Given the description of an element on the screen output the (x, y) to click on. 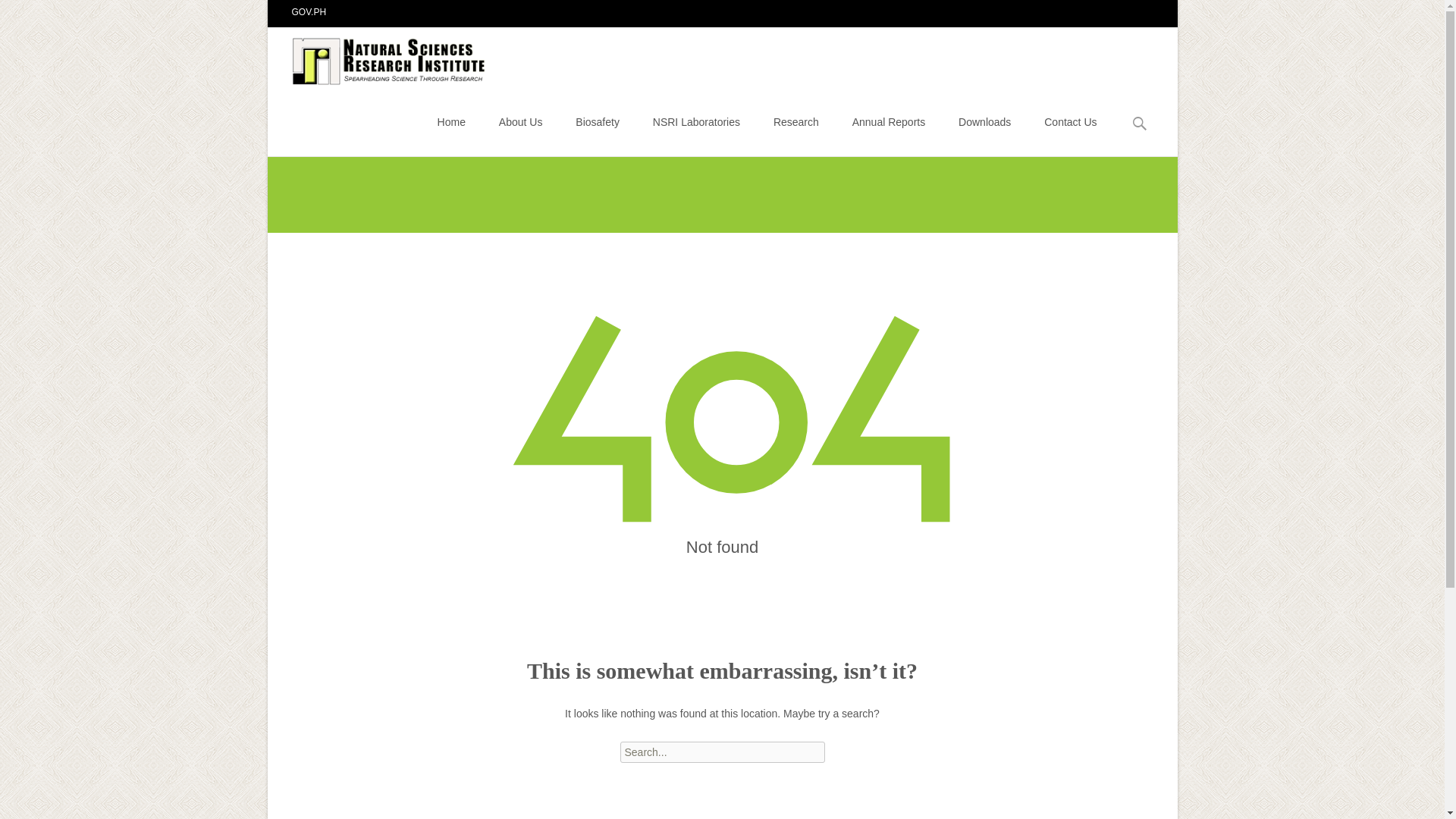
Search (34, 14)
GOV.PH (308, 11)
Search (18, 14)
Search for: (722, 752)
Search for: (1139, 123)
Natural Sciences Research Institute (378, 57)
Annual Reports (888, 121)
NSRI Laboratories (695, 121)
